Given the description of an element on the screen output the (x, y) to click on. 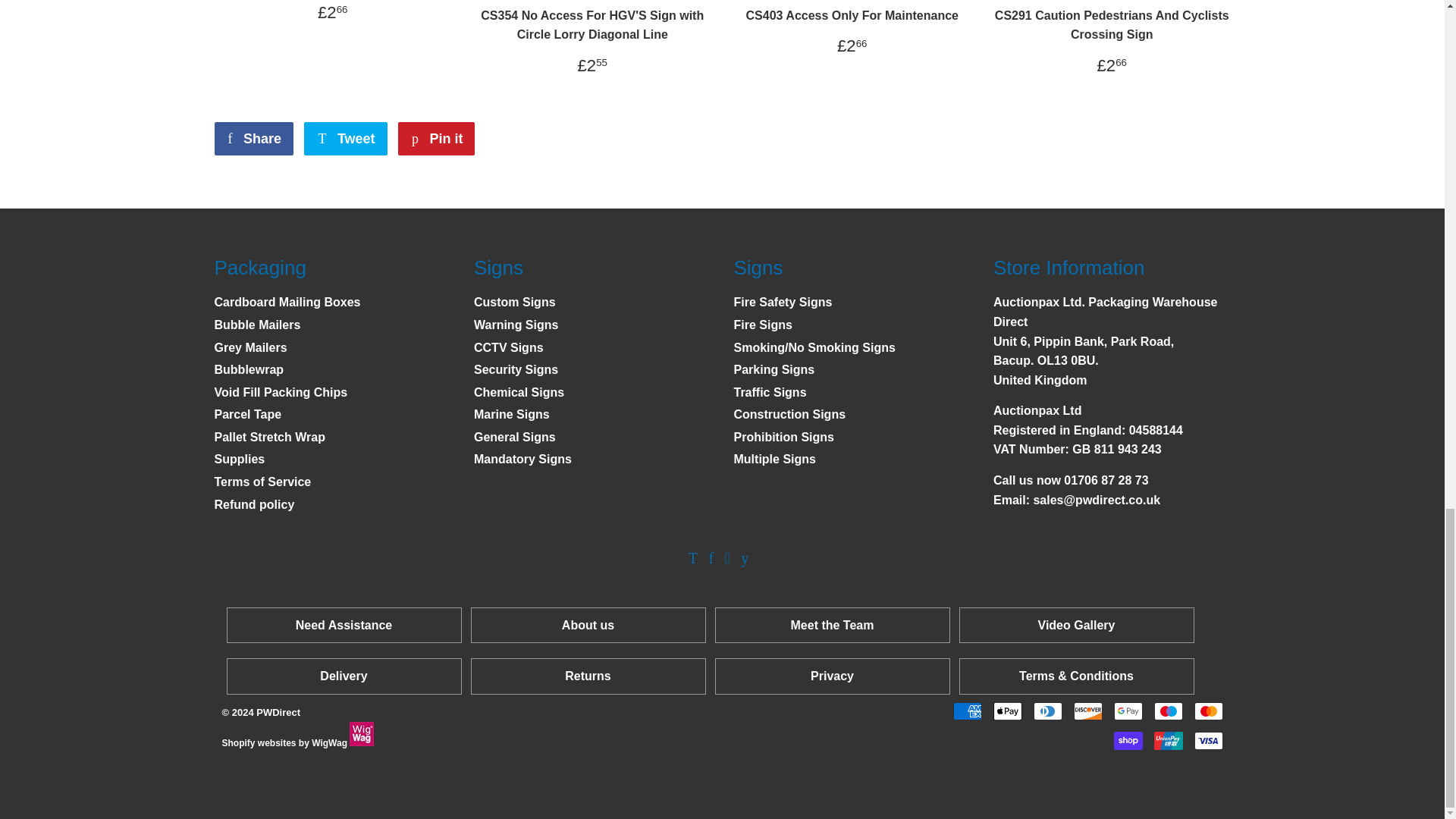
Pin on Pinterest (435, 138)
Tweet on Twitter (345, 138)
Discover (1088, 710)
Apple Pay (1007, 710)
Google Pay (1127, 710)
Mastercard (1208, 710)
Diners Club (1046, 710)
Meet the Team (832, 625)
About us (588, 625)
Returns (587, 675)
Union Pay (1168, 741)
Visa (1208, 741)
Video Gallery (1075, 625)
Shop Pay (1127, 741)
American Express (966, 710)
